Given the description of an element on the screen output the (x, y) to click on. 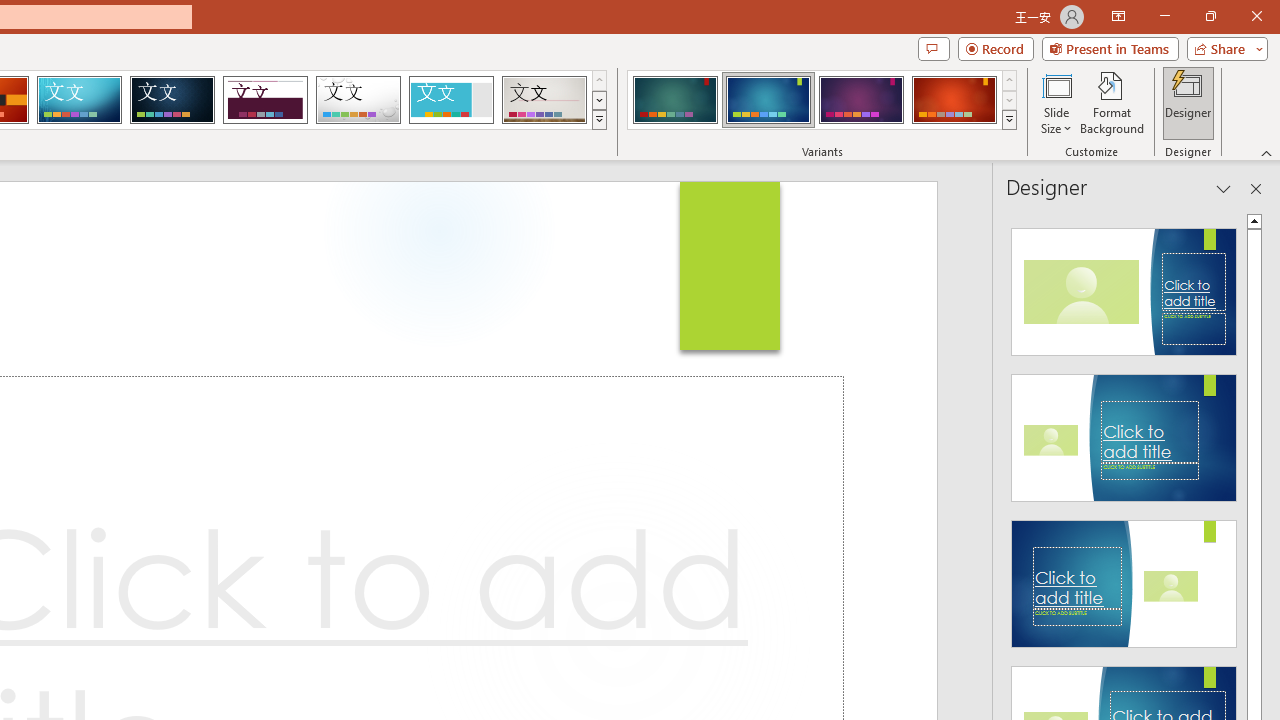
Task Pane Options (1224, 188)
Ion Variant 2 (768, 100)
Line up (1254, 219)
Variants (1009, 120)
Slide Size (1056, 102)
Circuit Loading Preview... (79, 100)
Ion Variant 3 (861, 100)
Ion Variant 4 (953, 100)
AutomationID: ThemeVariantsGallery (822, 99)
Dividend Loading Preview... (265, 100)
Row up (1009, 79)
Minimize (1164, 16)
Close (1256, 16)
Comments (933, 48)
